Given the description of an element on the screen output the (x, y) to click on. 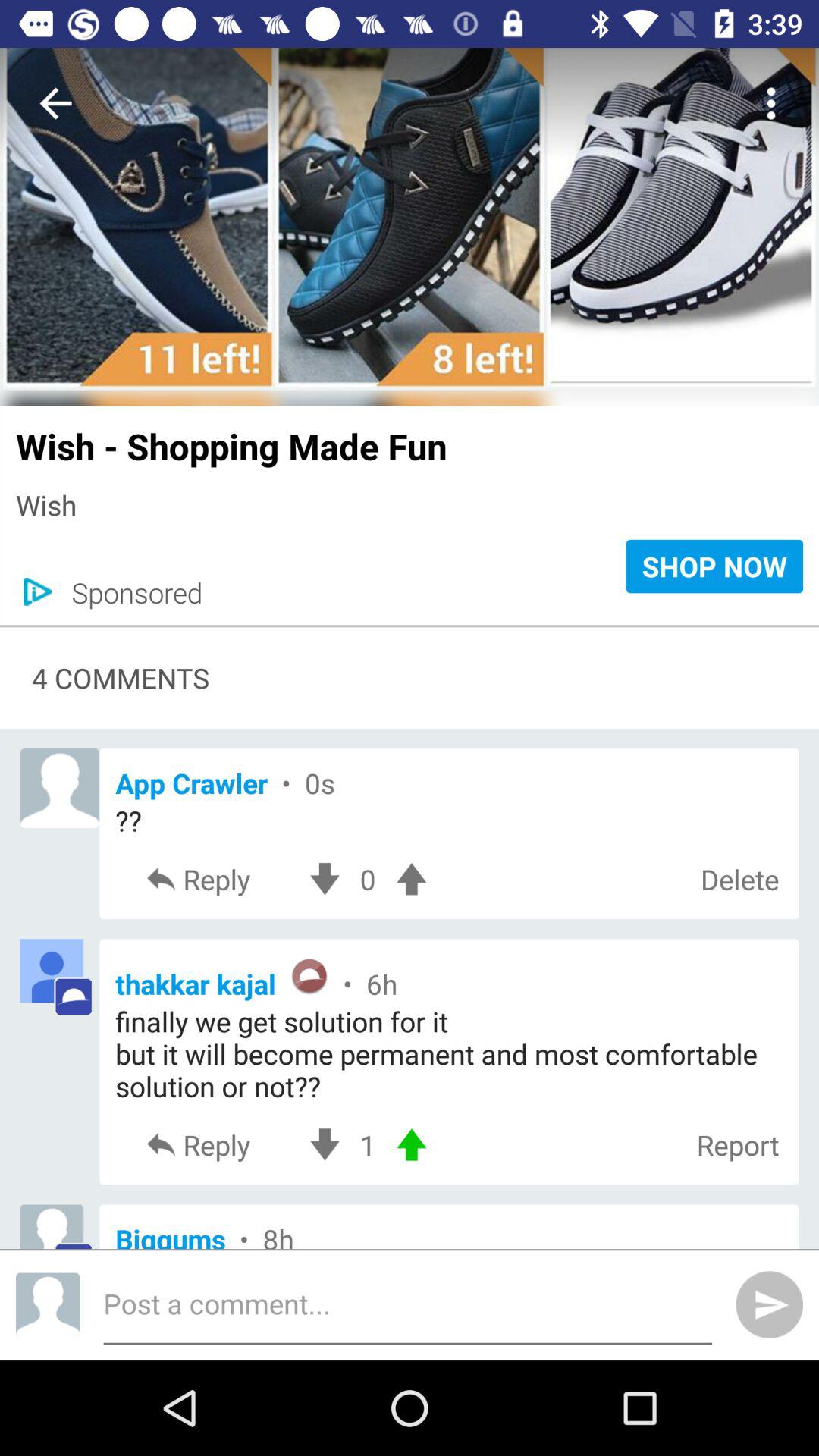
choose icon next to shop now icon (128, 592)
